Given the description of an element on the screen output the (x, y) to click on. 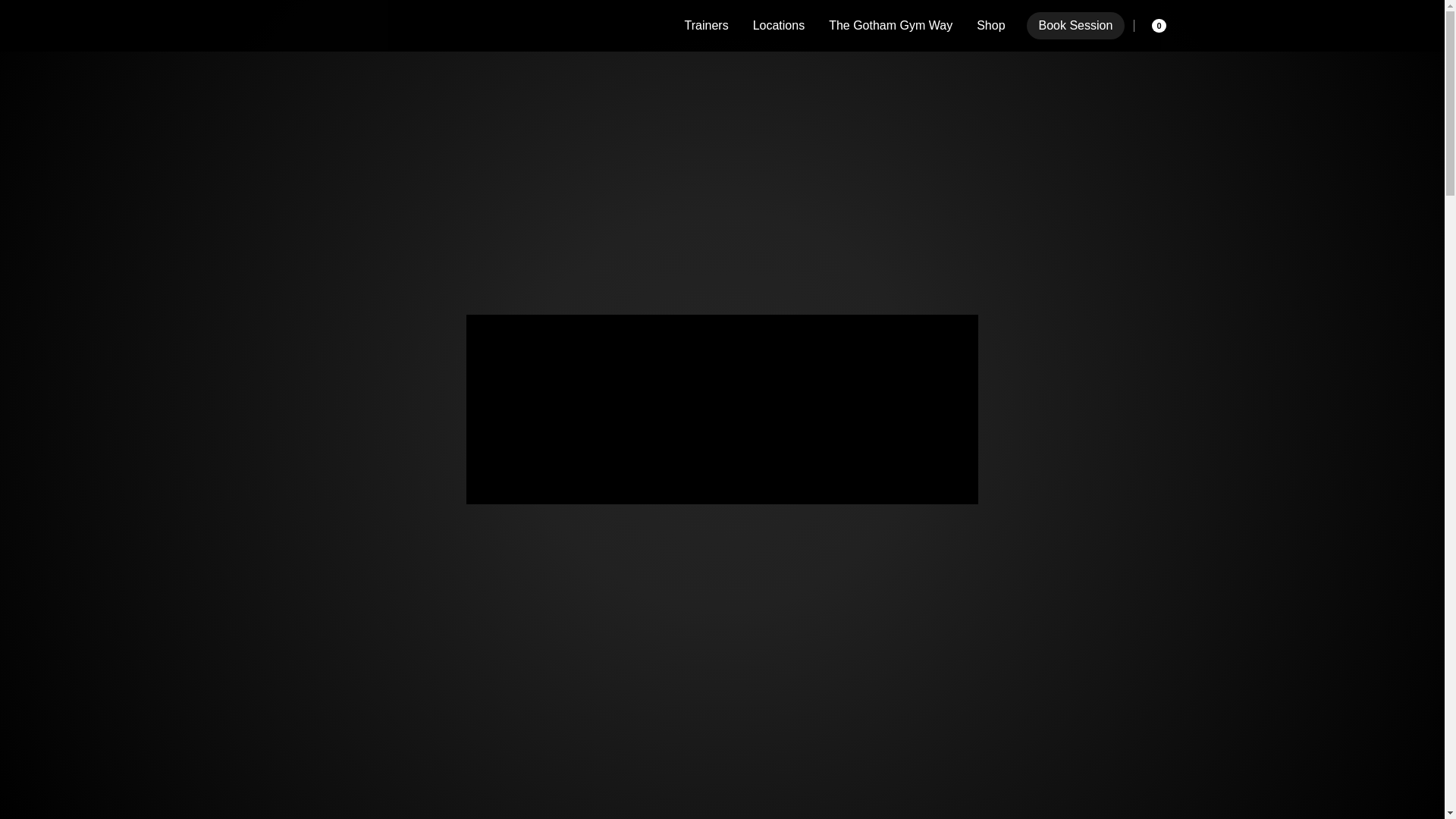
Shop (989, 25)
Book Session (1075, 25)
Trainers (706, 25)
The Gotham Gym Way (889, 25)
Locations (778, 25)
0 (1155, 25)
